Given the description of an element on the screen output the (x, y) to click on. 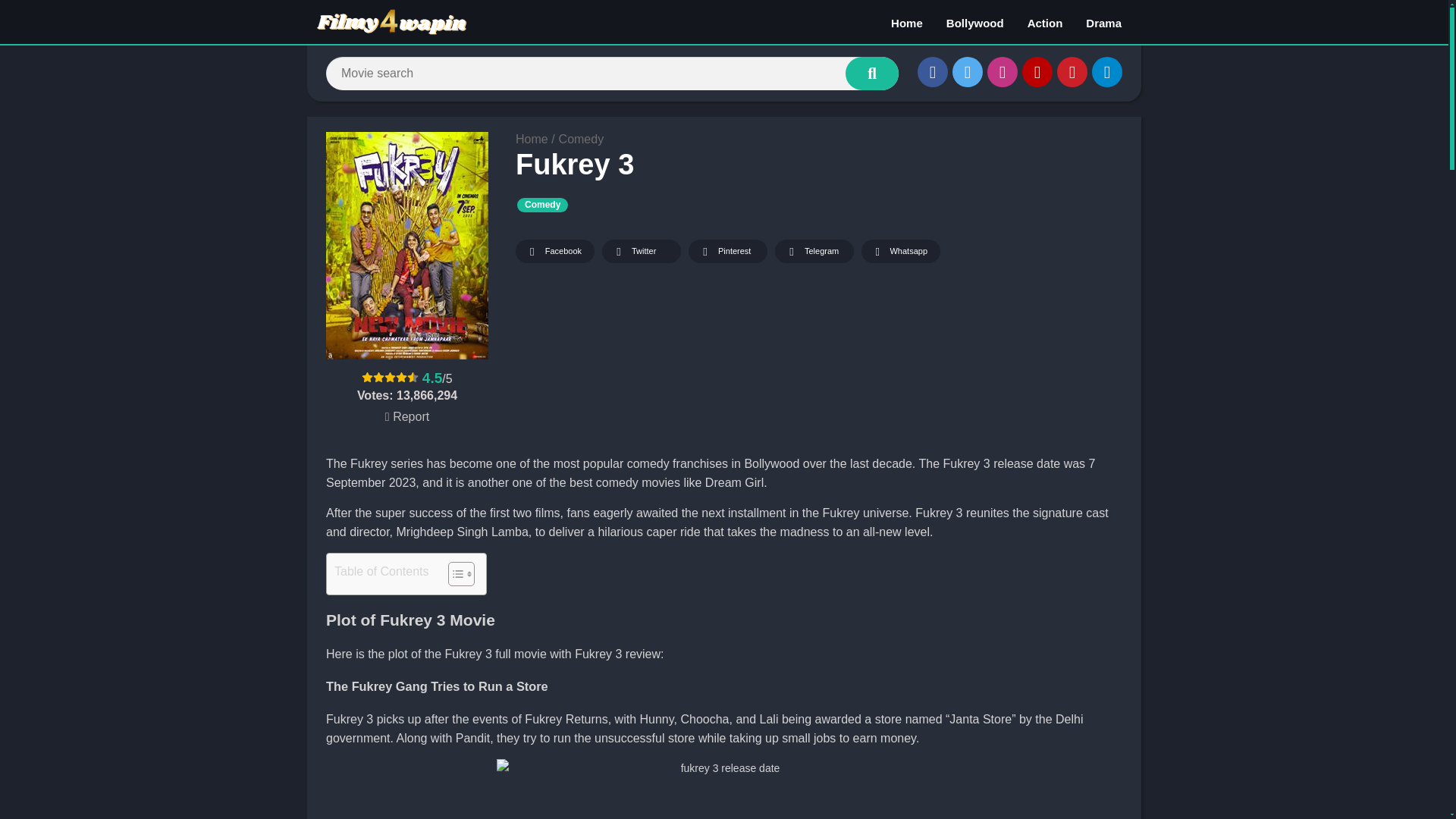
Facebook (554, 250)
Comedy (581, 138)
YouTube (1037, 71)
Home (531, 138)
Comedy (541, 205)
Action (1045, 22)
Twitter (641, 250)
Twitter (967, 71)
Whatsapp (900, 250)
Telegram (813, 250)
Movie search (871, 73)
Instagram (1002, 71)
Pinterest (727, 250)
Home (906, 22)
Pinterest (1072, 71)
